Given the description of an element on the screen output the (x, y) to click on. 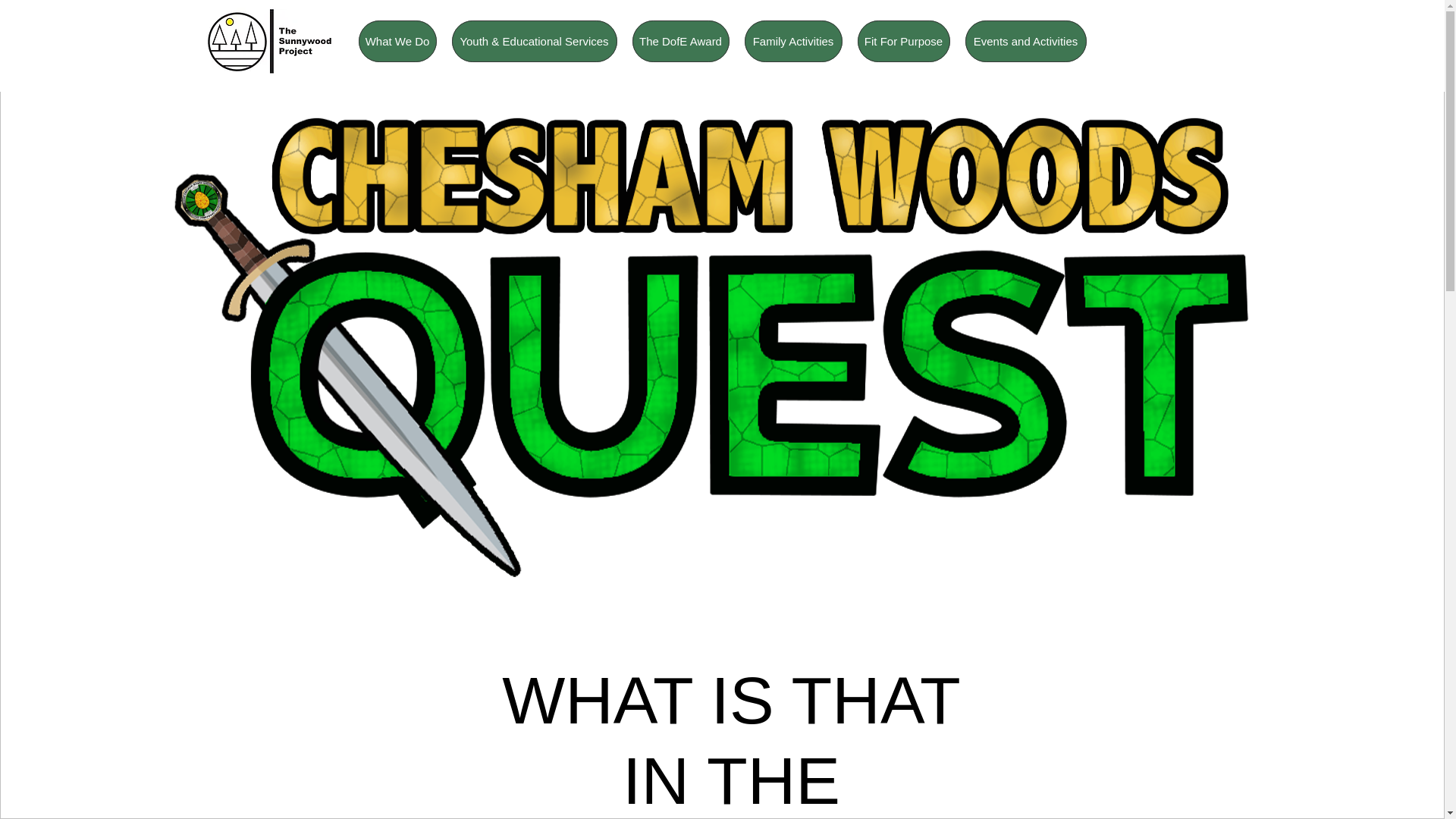
Events and Activities (1024, 41)
The DofE Award (680, 41)
Family Activities (793, 41)
What We Do (396, 41)
Fit For Purpose (903, 41)
